Given the description of an element on the screen output the (x, y) to click on. 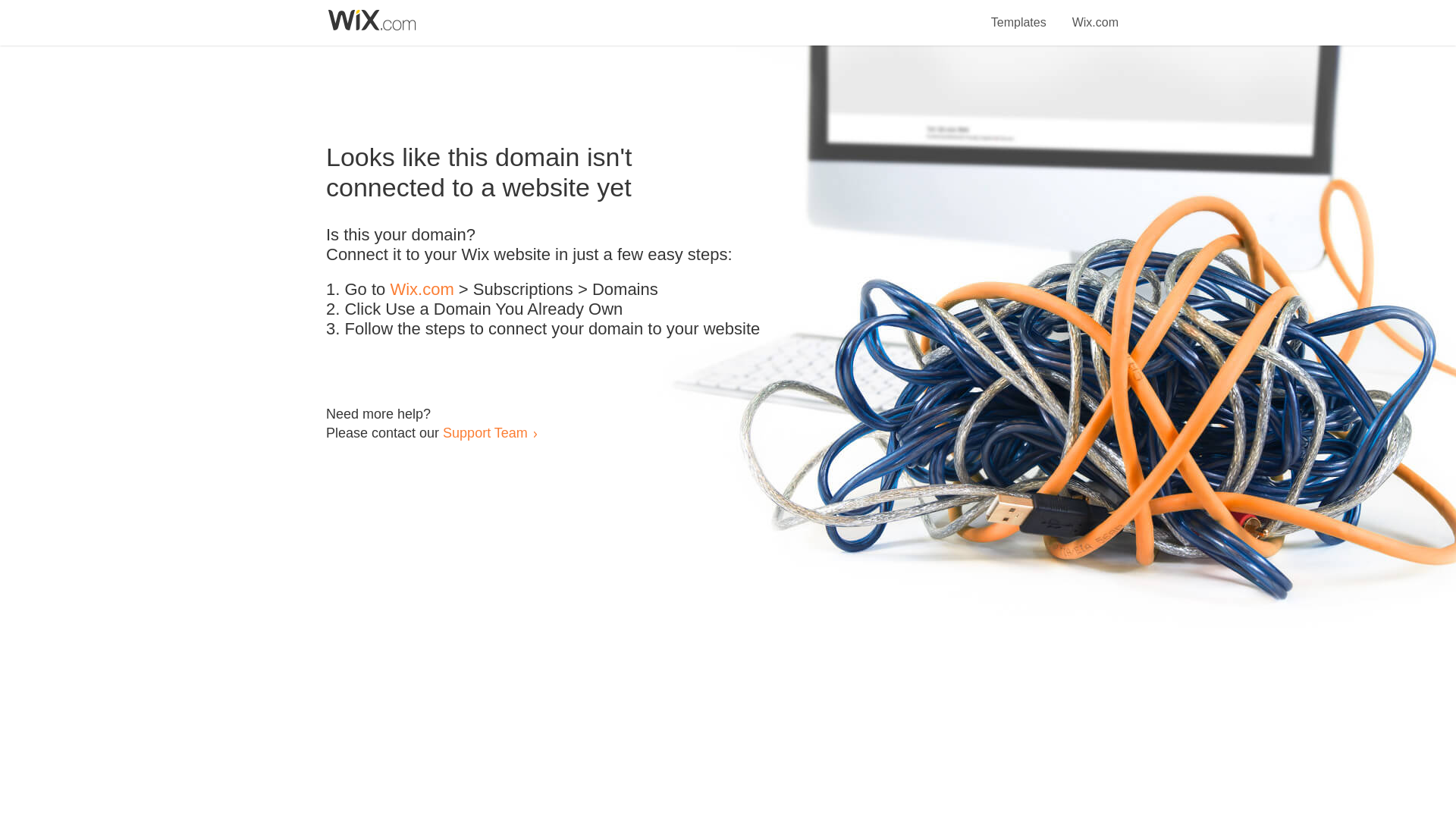
Wix.com (1095, 14)
Templates (1018, 14)
Support Team (484, 432)
Wix.com (421, 289)
